Given the description of an element on the screen output the (x, y) to click on. 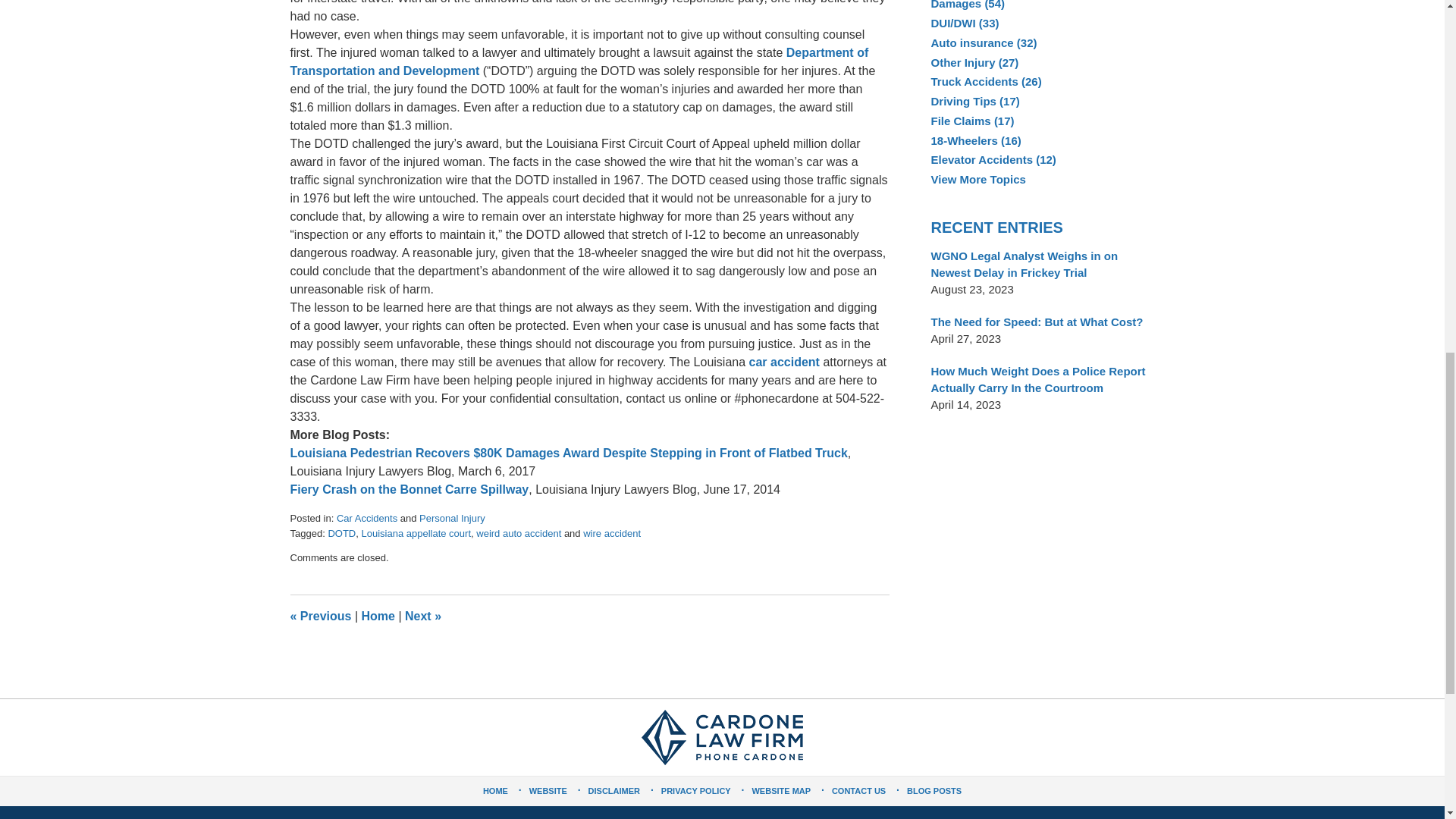
Car Accidents (366, 518)
DOTD (341, 532)
View all posts in Car Accidents (366, 518)
weird auto accident (518, 532)
View all posts tagged with weird auto accident (518, 532)
Louisiana appellate court (415, 532)
View all posts tagged with wire accident (611, 532)
Fiery Crash on the Bonnet Carre Spillway (408, 489)
View all posts in Personal Injury (451, 518)
View all posts tagged with DOTD (341, 532)
Personal Injury (451, 518)
car accident (784, 361)
Department of Transportation and Development (578, 60)
View all posts tagged with Louisiana appellate court (415, 532)
